Given the description of an element on the screen output the (x, y) to click on. 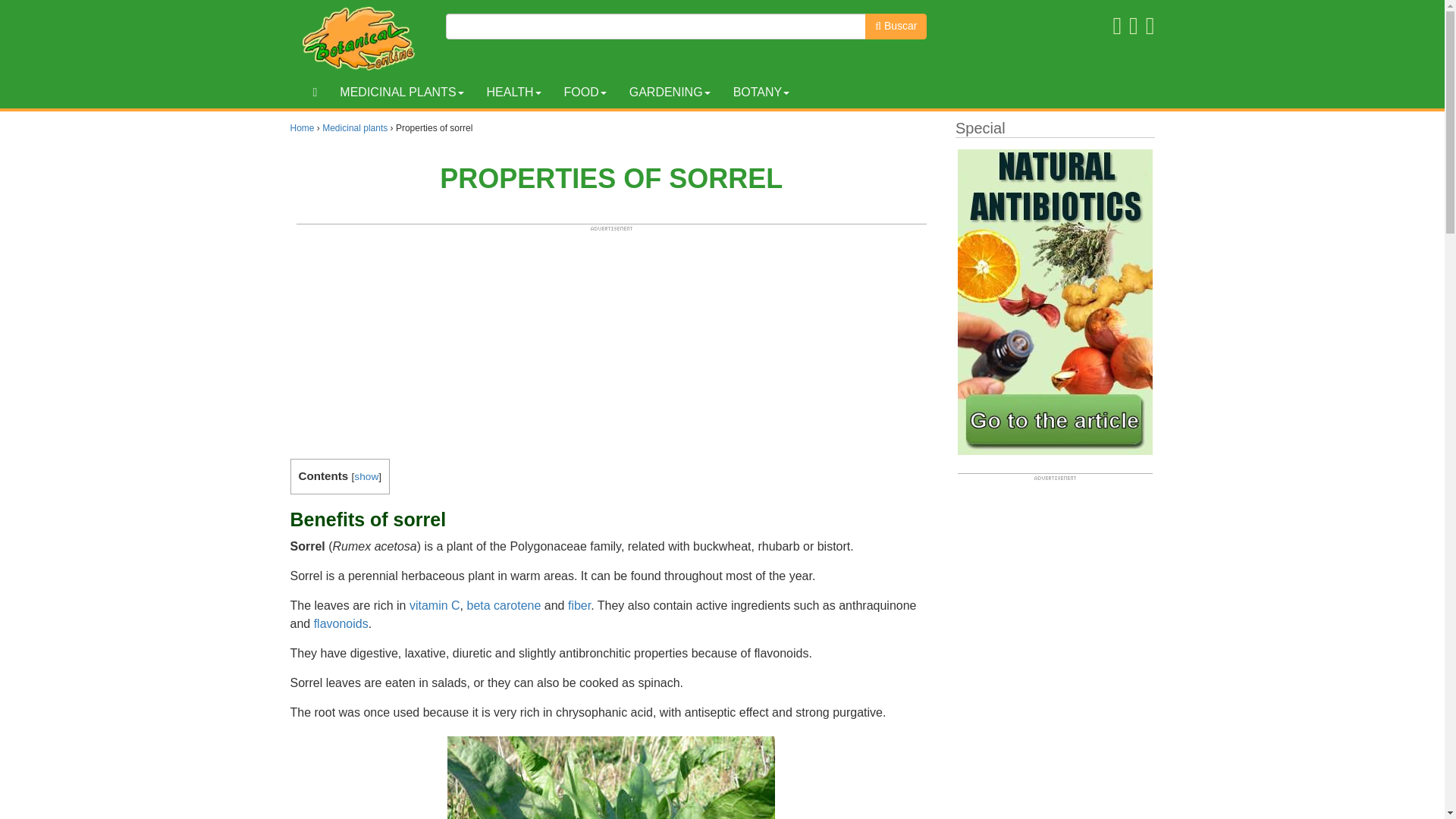
GARDENING (669, 92)
Advertisement (611, 337)
FOOD (584, 92)
Botanical-Online (362, 37)
Buscar (895, 26)
HEALTH (514, 92)
MEDICINAL PLANTS (401, 92)
